Given the description of an element on the screen output the (x, y) to click on. 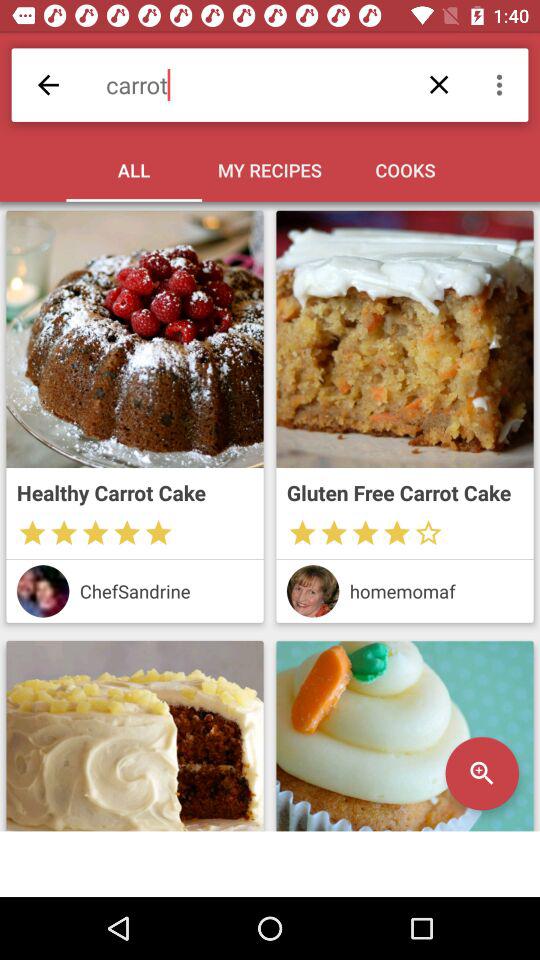
chefs profile picture (42, 591)
